Given the description of an element on the screen output the (x, y) to click on. 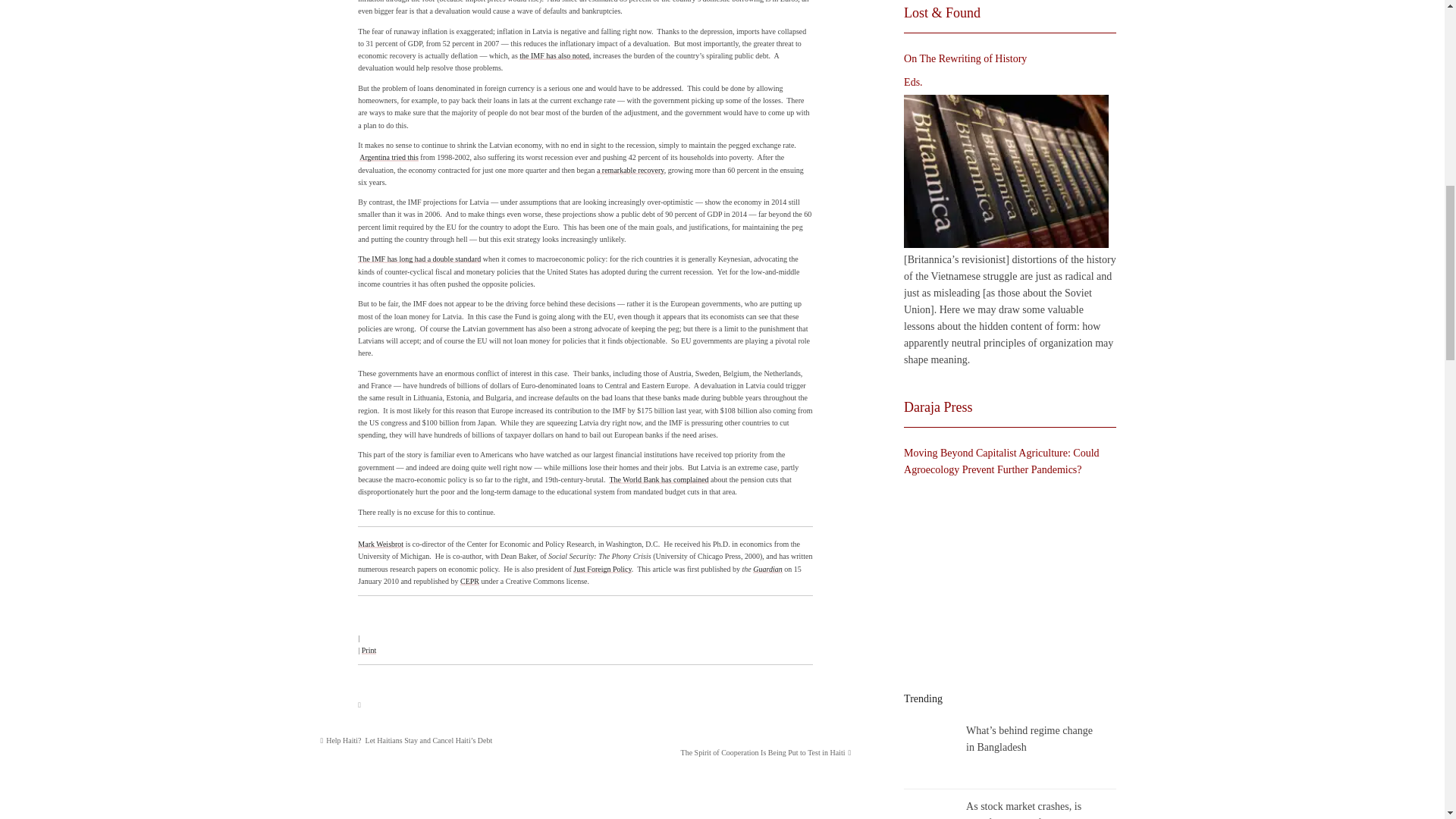
On The Rewriting of History (1006, 171)
Posts by Eds. (913, 82)
